Given the description of an element on the screen output the (x, y) to click on. 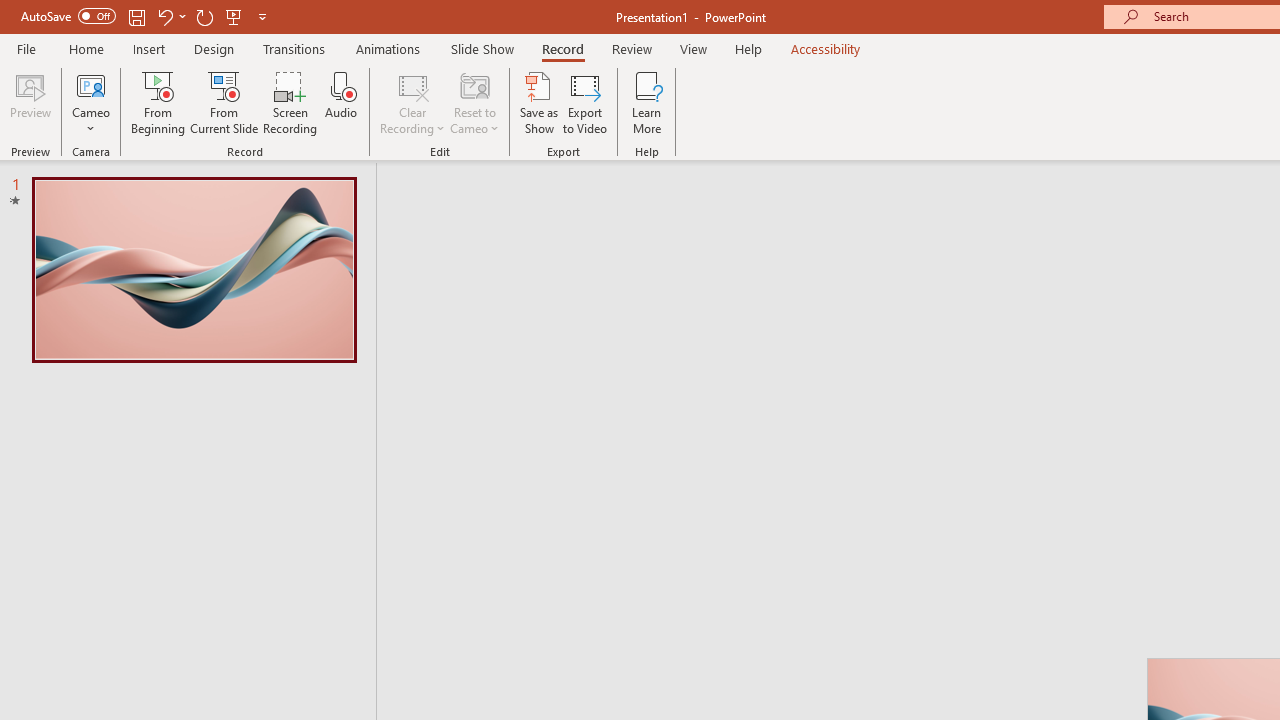
Learn More (646, 102)
From Beginning... (158, 102)
Clear Recording (412, 102)
Save as Show (539, 102)
Screen Recording (290, 102)
